Given the description of an element on the screen output the (x, y) to click on. 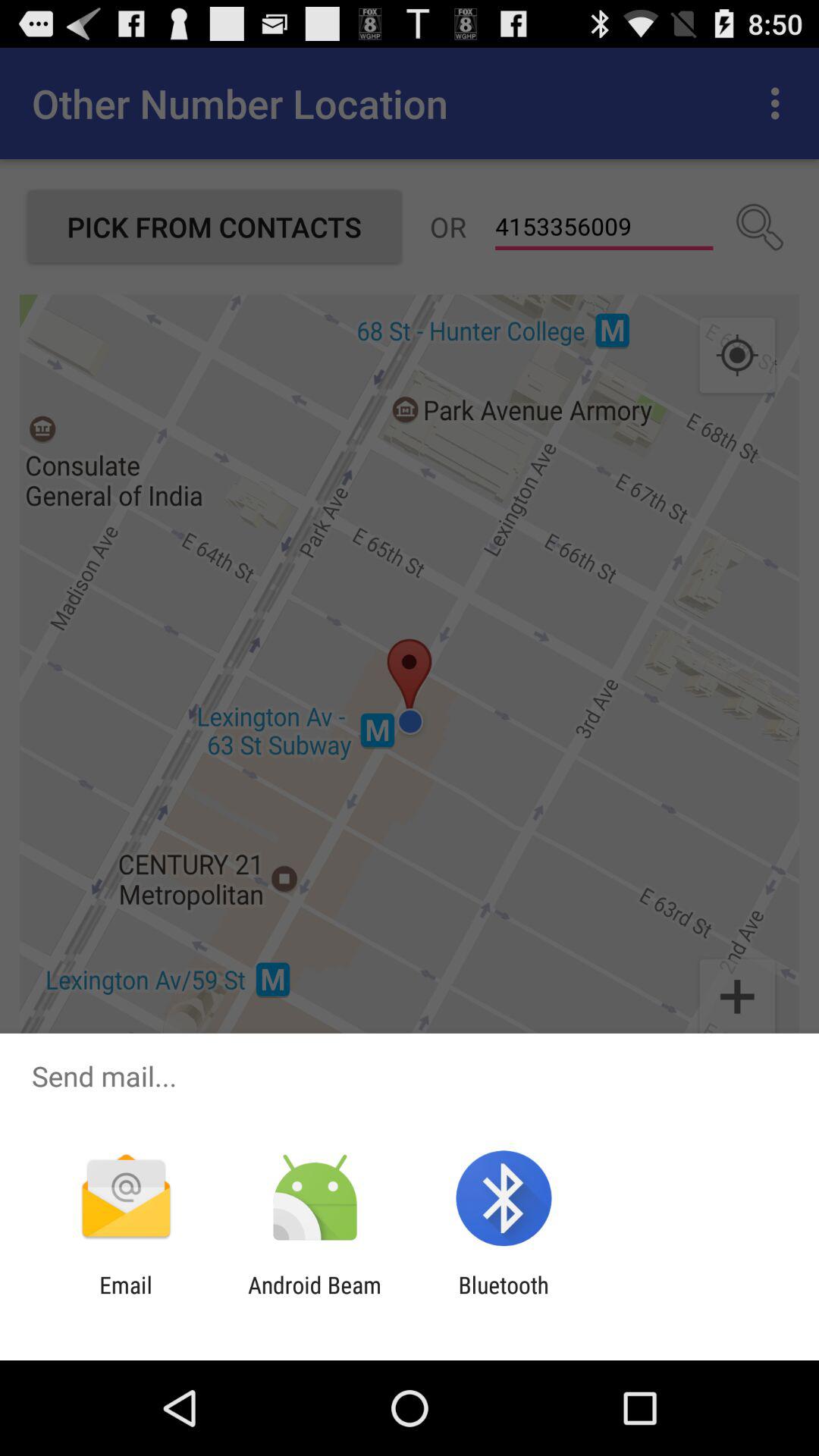
choose the icon to the right of email app (314, 1298)
